Given the description of an element on the screen output the (x, y) to click on. 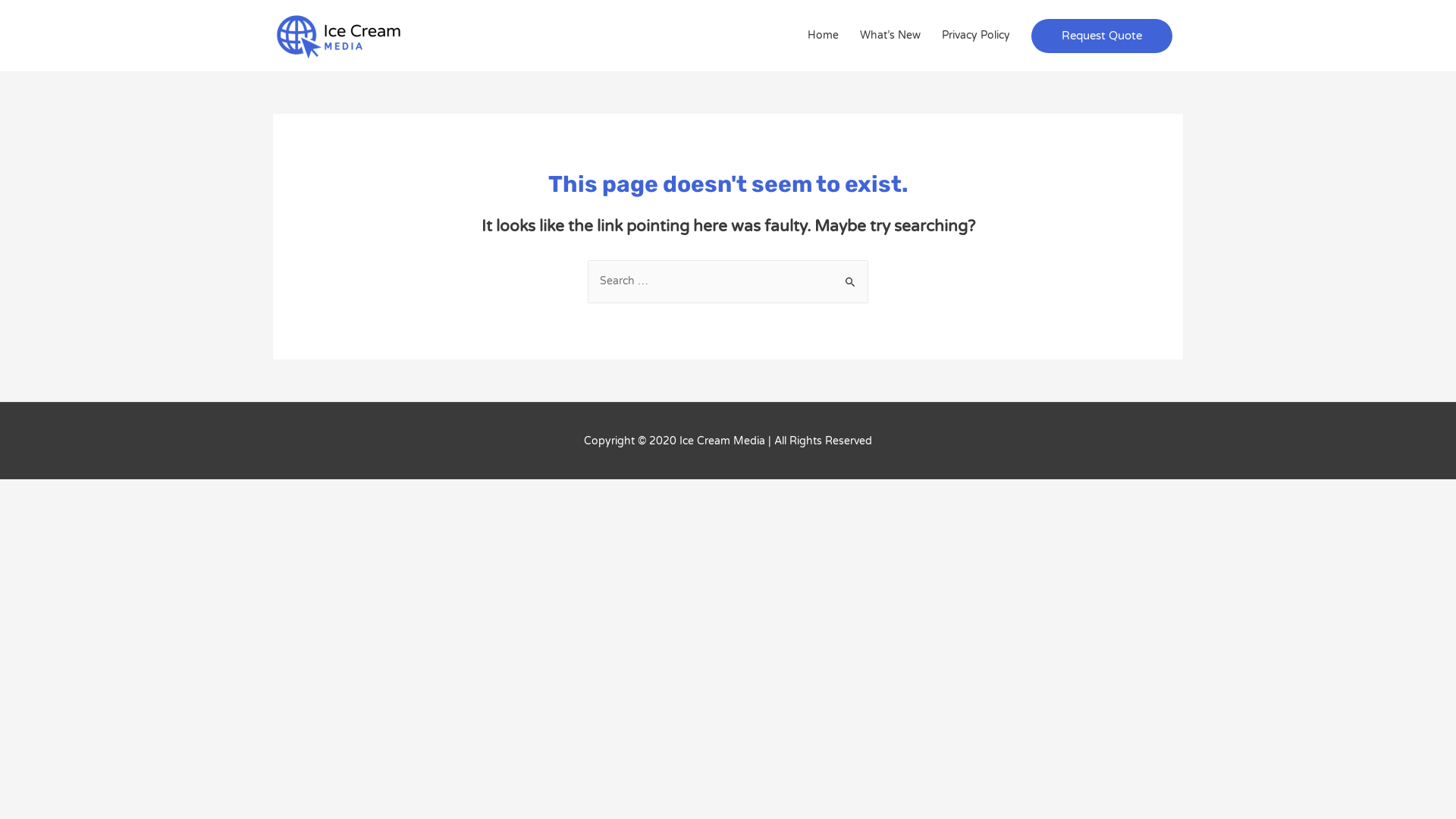
Home Element type: text (823, 35)
Privacy Policy Element type: text (975, 35)
Request Quote Element type: text (1101, 35)
Search Element type: text (851, 275)
